Given the description of an element on the screen output the (x, y) to click on. 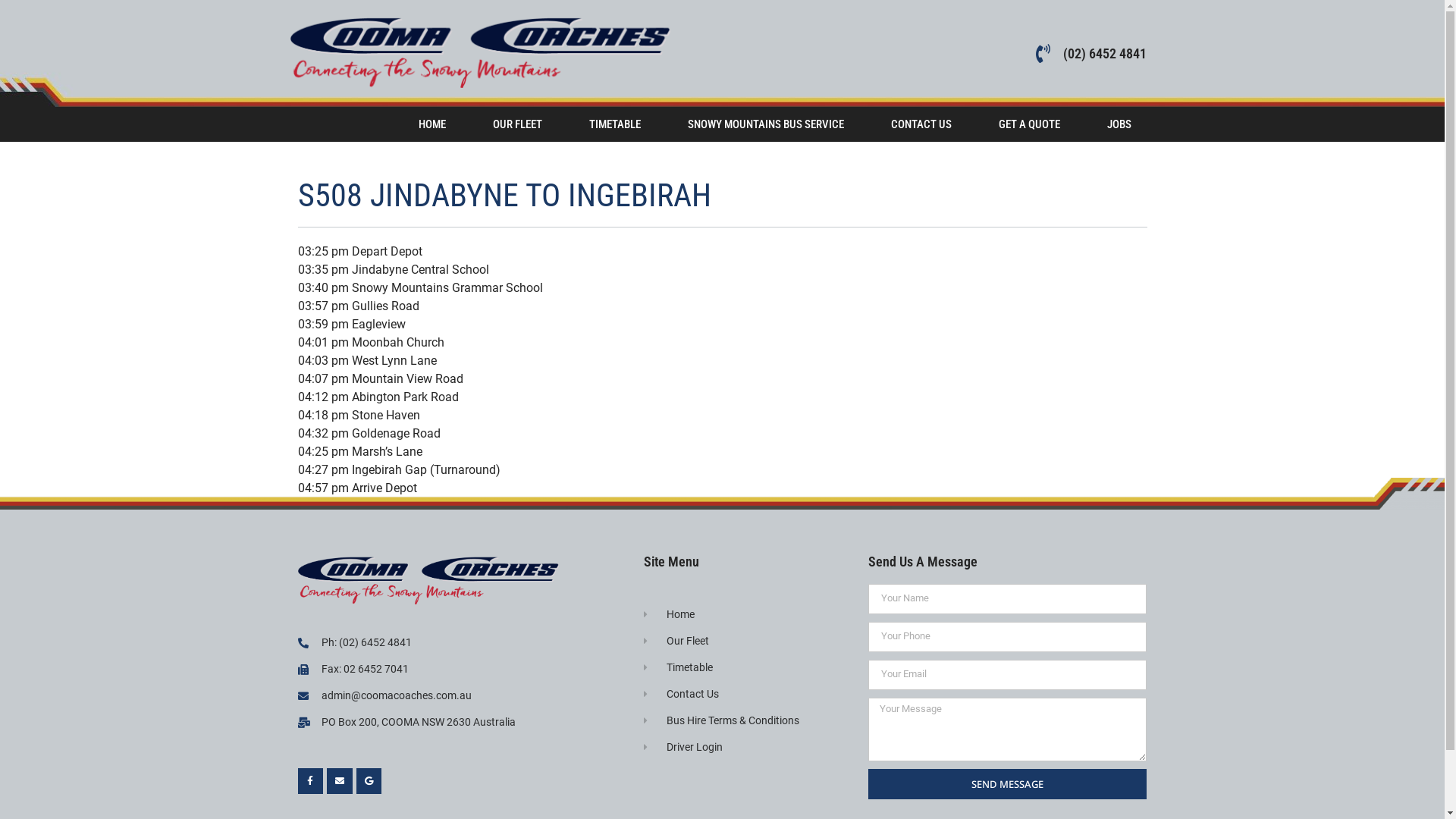
HOME Element type: text (431, 123)
JOBS Element type: text (1118, 123)
Contact Us Element type: text (747, 694)
CONTACT US Element type: text (921, 123)
TIMETABLE Element type: text (614, 123)
Our Fleet Element type: text (747, 641)
Driver Login Element type: text (747, 747)
Bus Hire Terms & Conditions Element type: text (747, 720)
Timetable Element type: text (747, 667)
OUR FLEET Element type: text (516, 123)
GET A QUOTE Element type: text (1029, 123)
SEND MESSAGE Element type: text (1006, 783)
Home Element type: text (747, 614)
SNOWY MOUNTAINS BUS SERVICE Element type: text (765, 123)
